Given the description of an element on the screen output the (x, y) to click on. 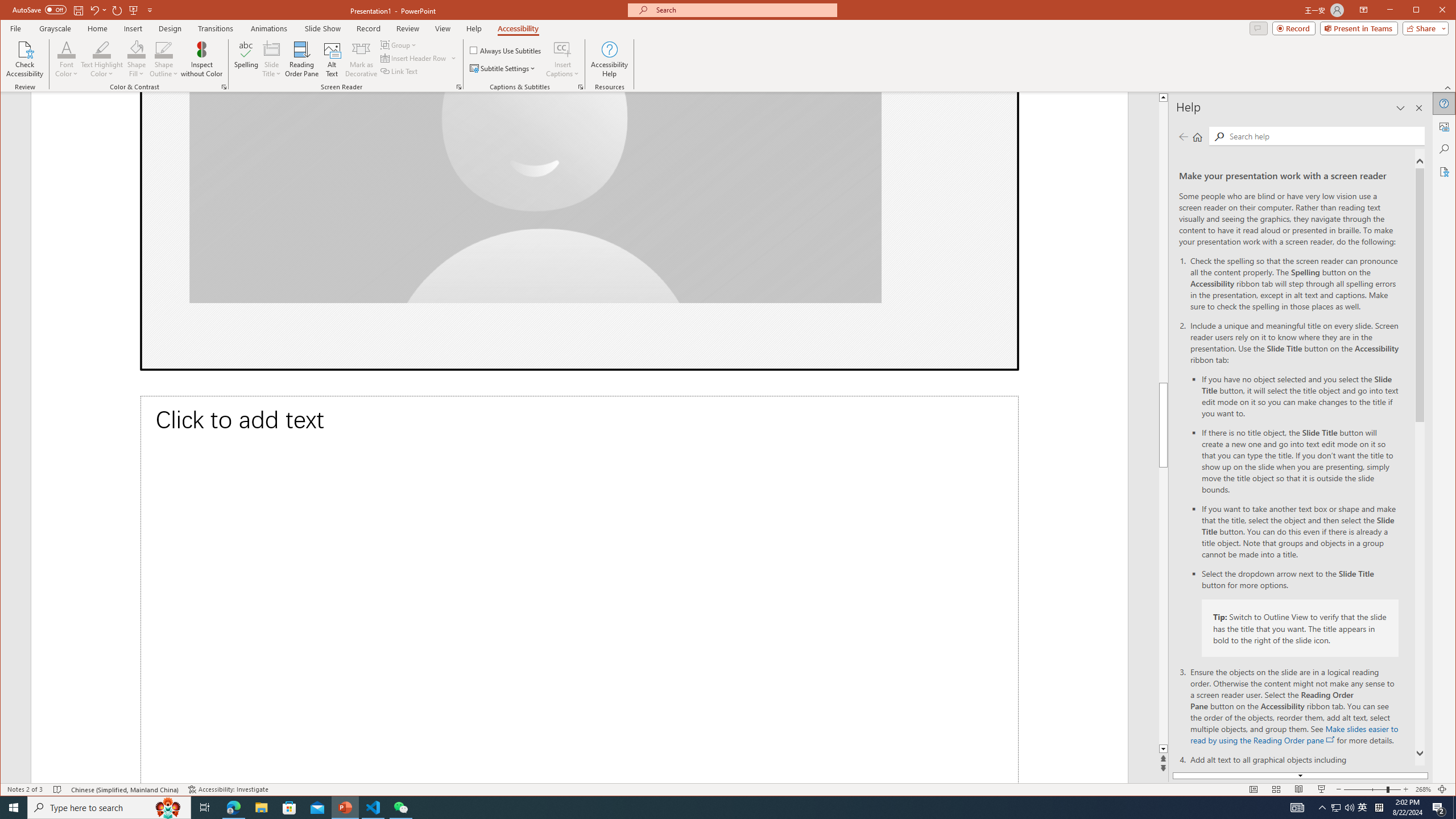
Visual Studio Code - 1 running window (373, 807)
Start (13, 807)
Accessibility (1444, 171)
